Given the description of an element on the screen output the (x, y) to click on. 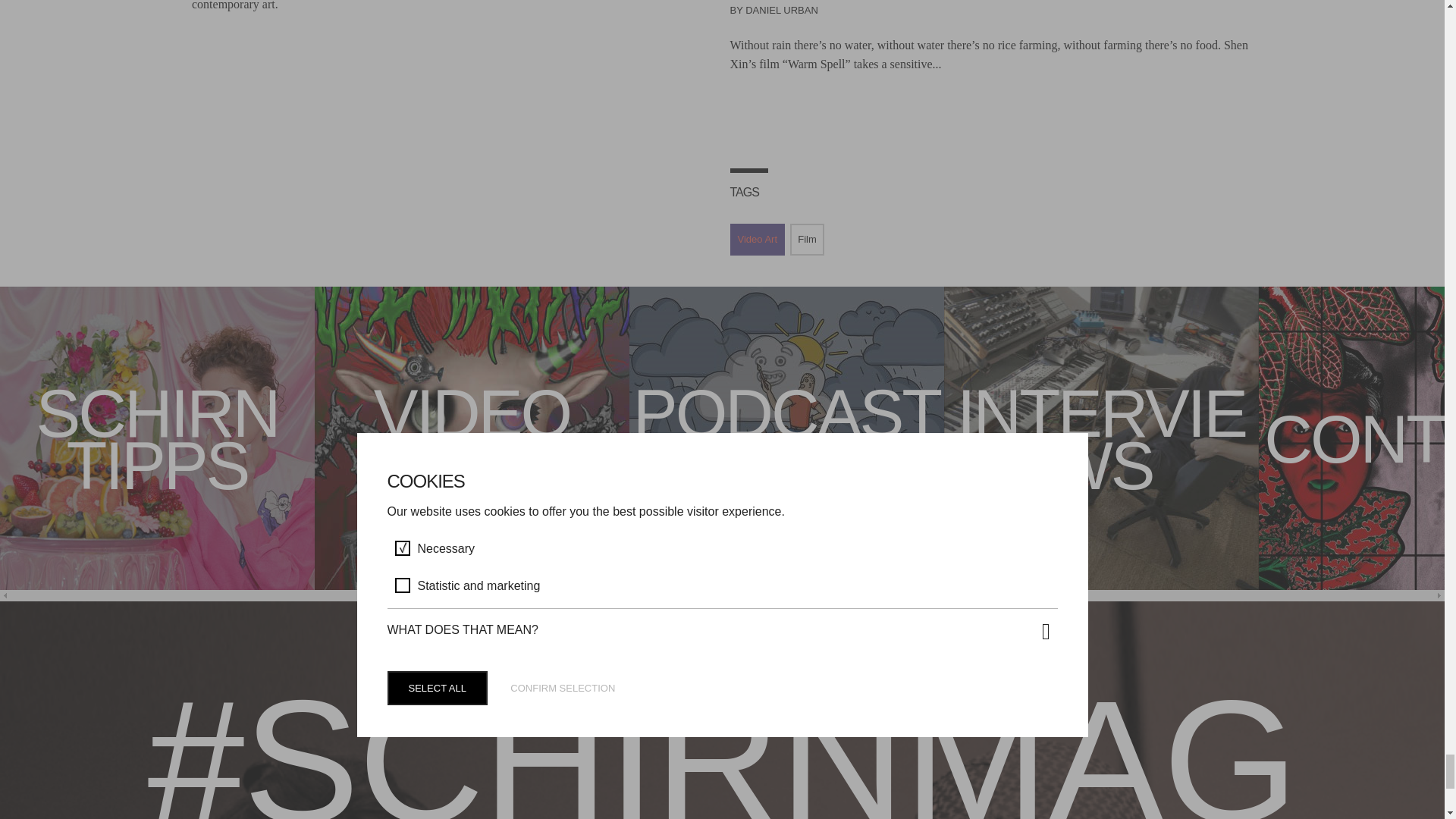
SCHIRN TIPPS (157, 443)
INTERVIEWS (1101, 443)
VIDEO ART (471, 443)
PODCASTS (785, 443)
